Given the description of an element on the screen output the (x, y) to click on. 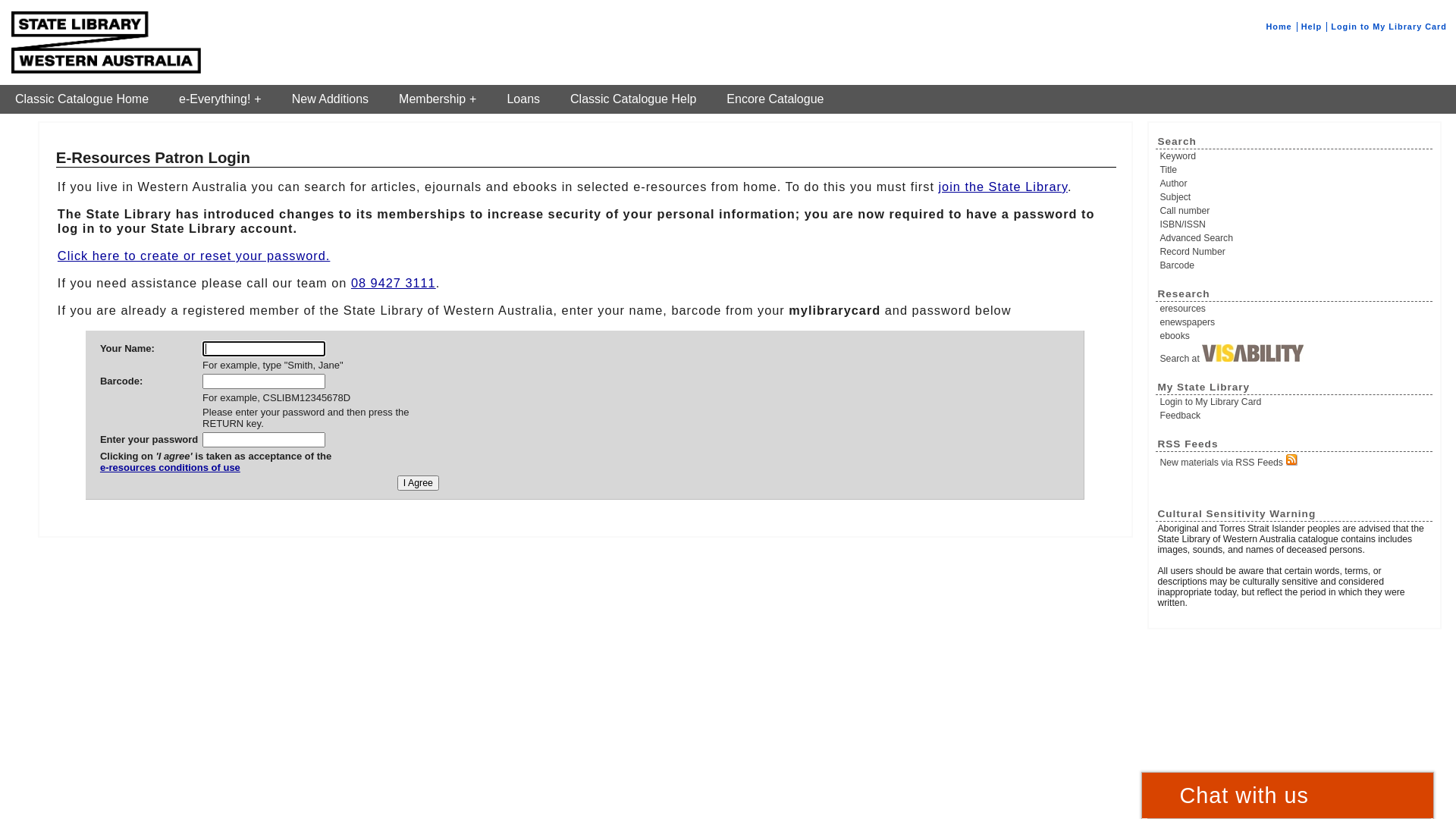
Help Element type: text (1311, 26)
Home Element type: text (1278, 26)
enewspapers Element type: text (1294, 321)
Encore Catalogue Element type: text (774, 98)
Record Number Element type: text (1294, 251)
Advanced Search Element type: text (1294, 237)
Title Element type: text (1294, 169)
Author Element type: text (1294, 183)
Feedback Element type: text (1294, 415)
New materials via RSS Feeds Element type: text (1294, 460)
join the State Library Element type: text (1002, 186)
Barcode Element type: text (1294, 265)
Keyword Element type: text (1294, 155)
Chat with us Element type: text (1287, 795)
Login to My Library Card Element type: text (1294, 401)
Login to My Library Card Element type: text (1388, 26)
Classic Catalogue Home Element type: text (81, 98)
Loans Element type: text (523, 98)
ISBN/ISSN Element type: text (1294, 224)
Call number Element type: text (1294, 210)
Click here to create or reset your password. Element type: text (193, 255)
ebooks Element type: text (1294, 335)
I Agree Element type: text (418, 482)
Classic Catalogue Help Element type: text (633, 98)
New Additions Element type: text (329, 98)
e-Everything! Element type: text (219, 98)
e-resources conditions of use Element type: text (215, 472)
eresources Element type: text (1294, 308)
Search at Element type: text (1294, 354)
08 9427 3111 Element type: text (393, 282)
Subject Element type: text (1294, 196)
Membership Element type: text (437, 98)
